Given the description of an element on the screen output the (x, y) to click on. 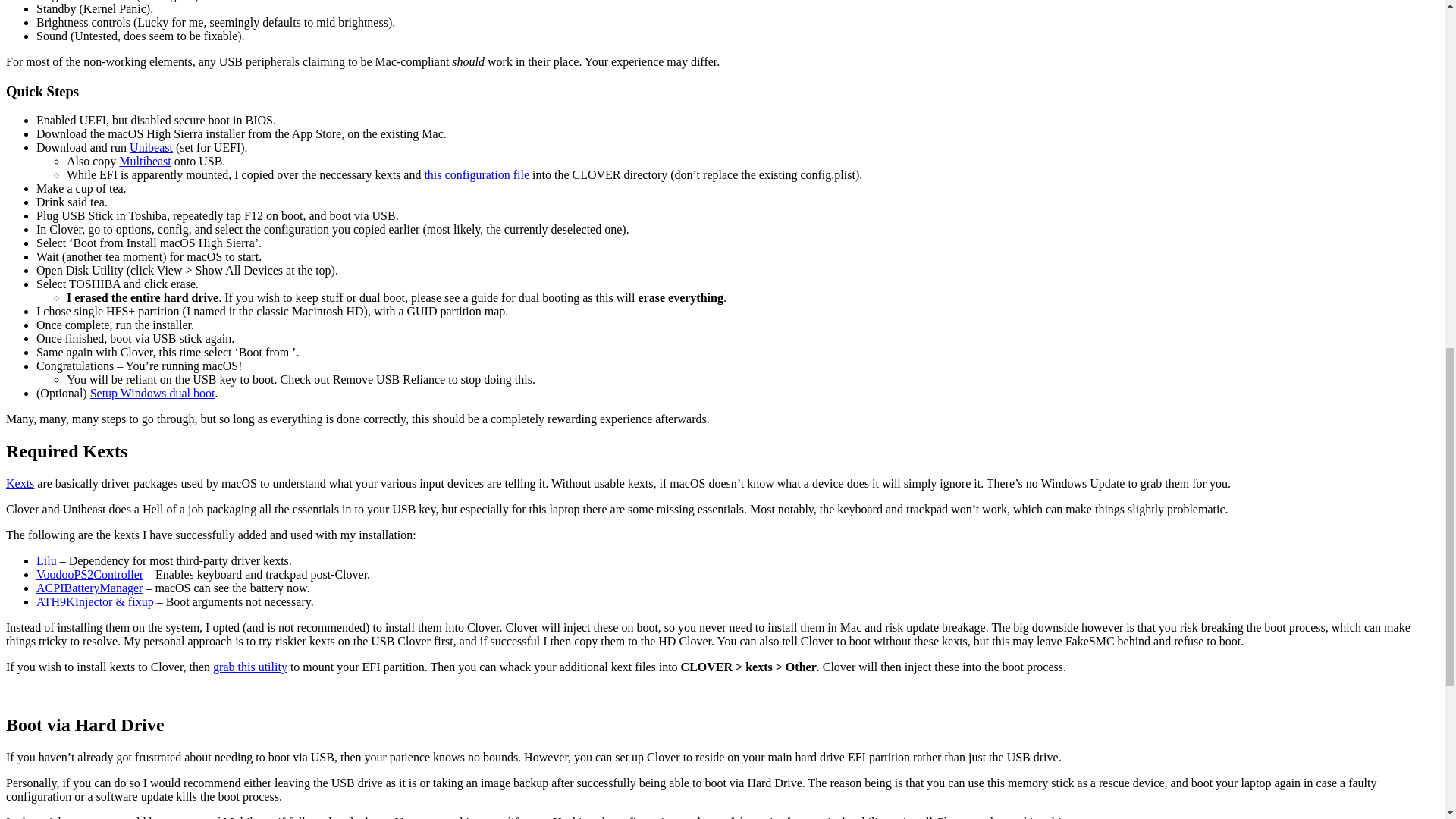
grab this utility (249, 666)
Setup Windows dual boot (152, 392)
VoodooPS2Controller (89, 574)
Lilu (46, 560)
Kexts (19, 482)
ACPIBatteryManager (89, 587)
Multibeast (144, 160)
this configuration file (476, 174)
Unibeast (151, 146)
